Given the description of an element on the screen output the (x, y) to click on. 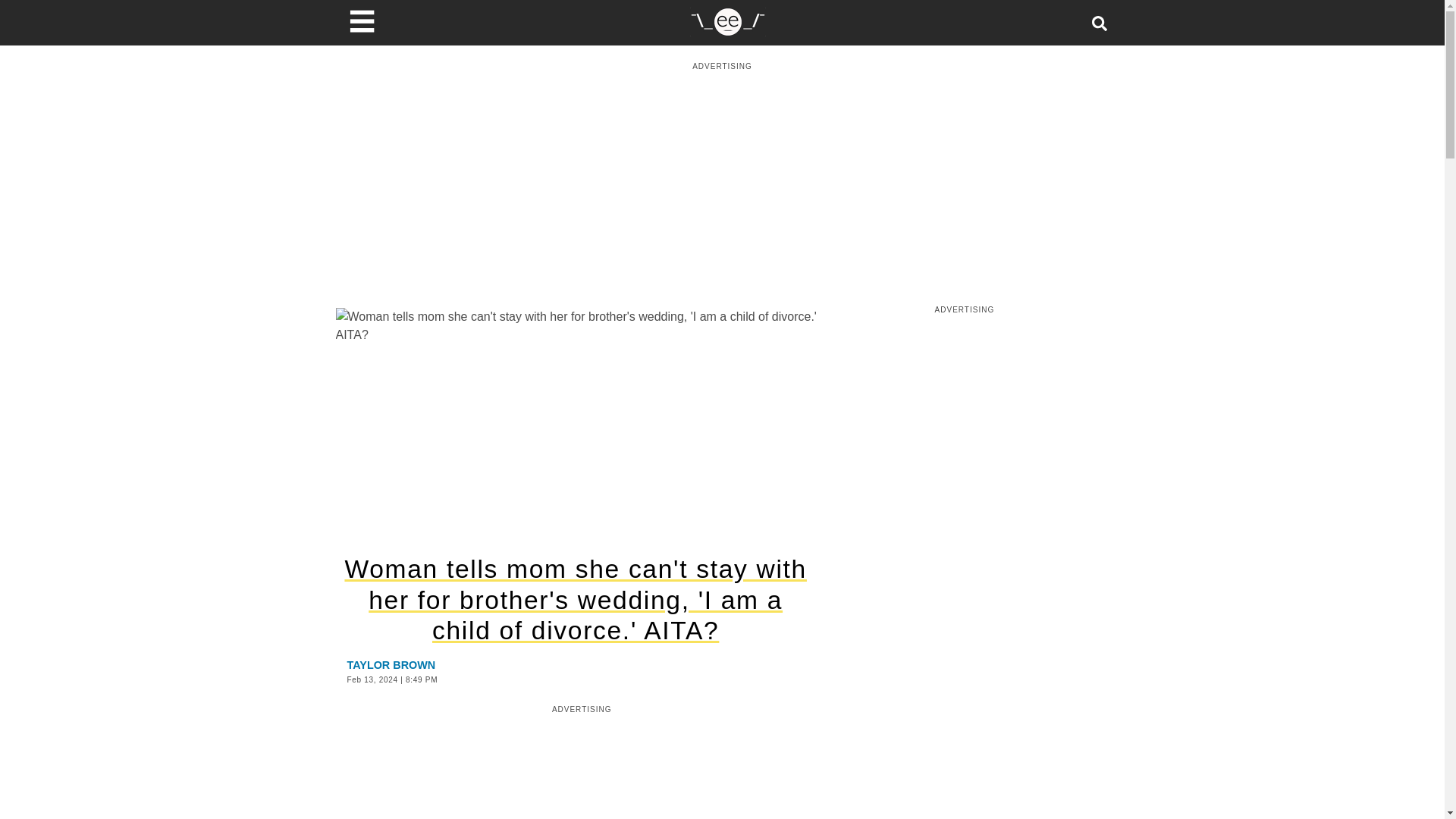
TAYLOR BROWN (391, 664)
